Given the description of an element on the screen output the (x, y) to click on. 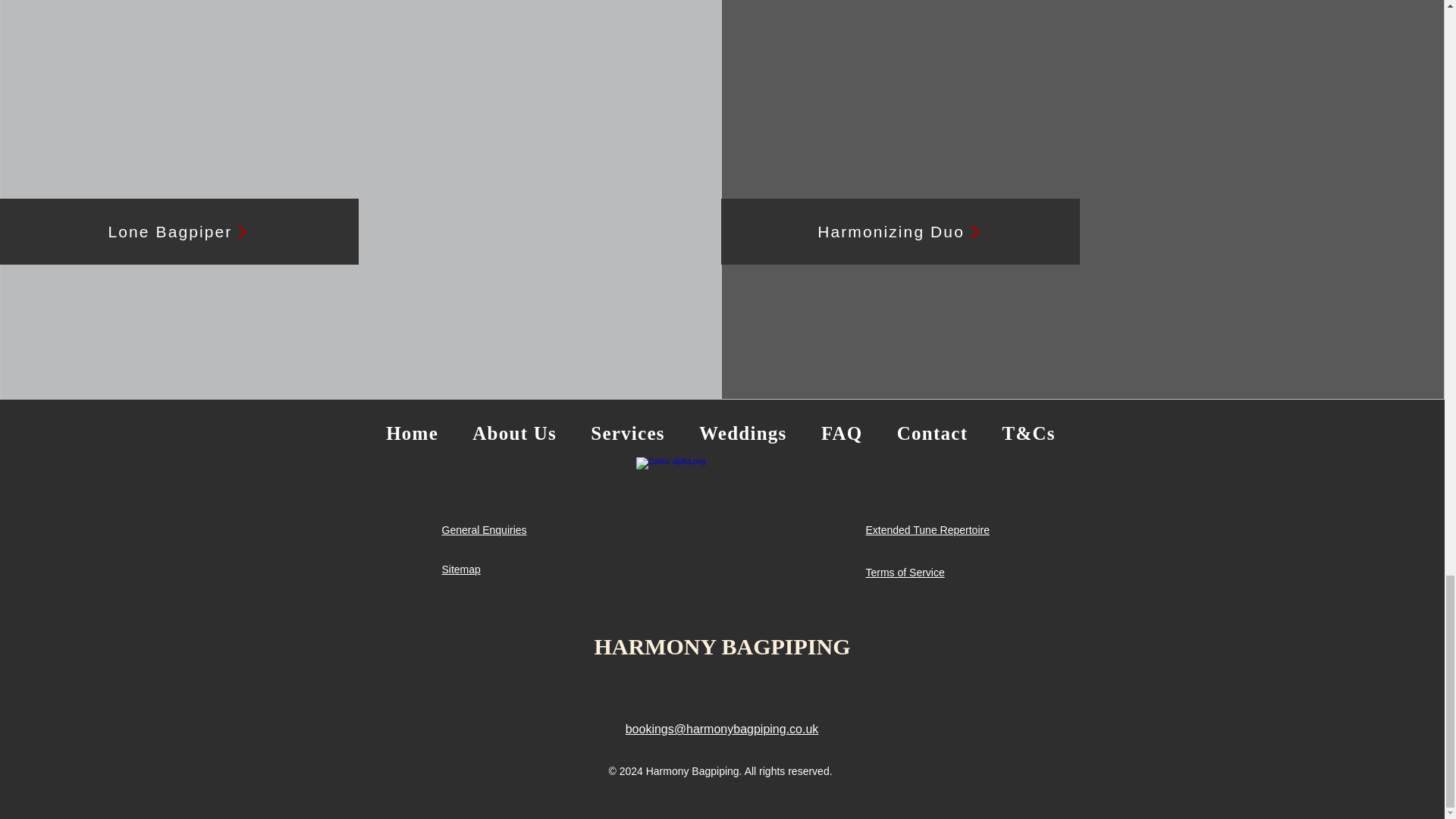
General Enquiries (483, 530)
Home (411, 433)
Harmonizing Duo (900, 231)
FAQ (841, 433)
Lone Bagpiper (179, 231)
About Us (514, 433)
Services (627, 433)
Back to Homepage (719, 541)
Weddings (742, 433)
Extended Tune Repertoire (928, 530)
